Given the description of an element on the screen output the (x, y) to click on. 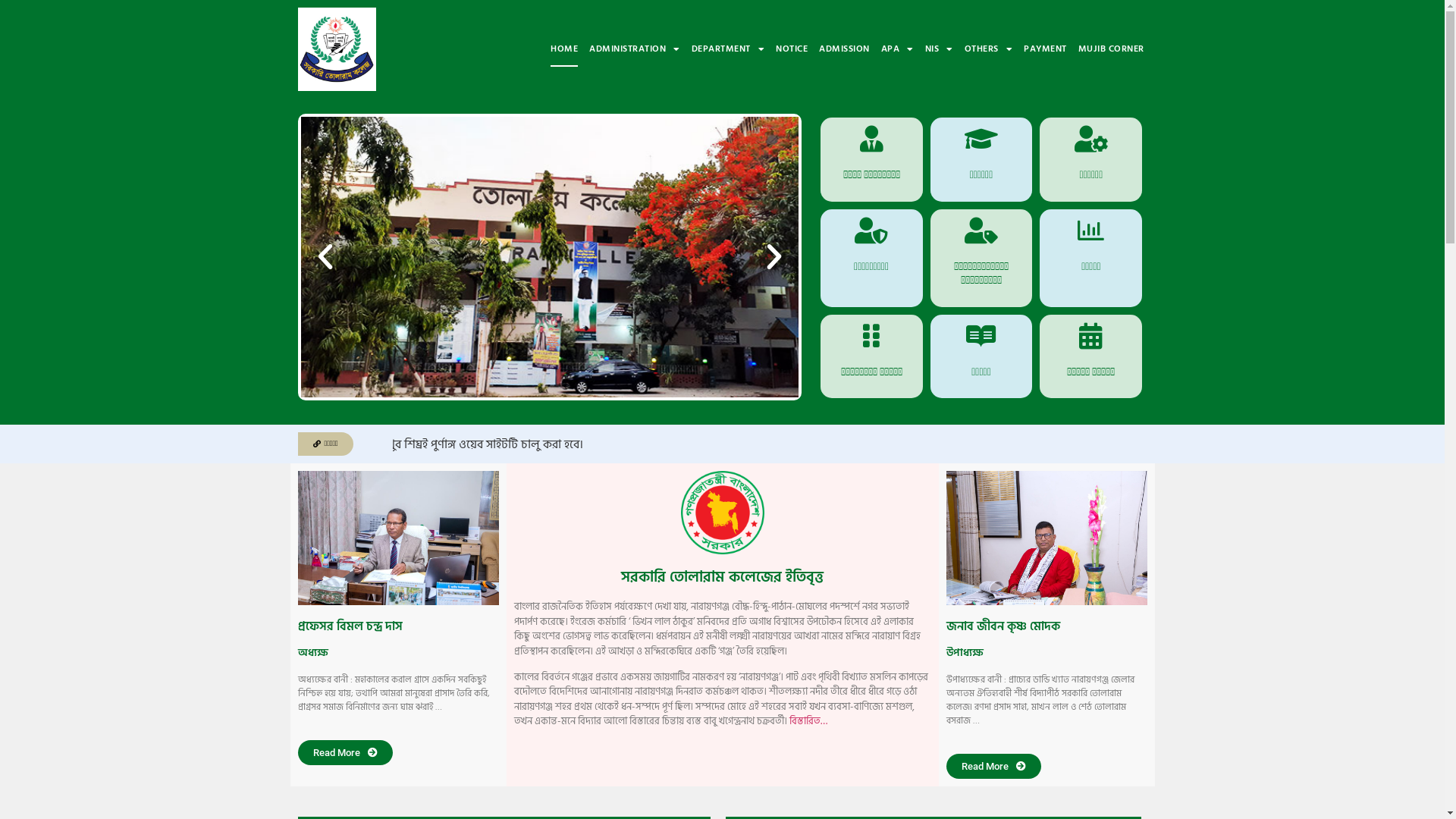
APA Element type: text (897, 48)
ADMISSION Element type: text (844, 48)
NOTICE Element type: text (791, 48)
Read More Element type: text (344, 752)
NIS Element type: text (939, 48)
OTHERS Element type: text (988, 48)
ADMINISTRATION Element type: text (634, 48)
PAYMENT Element type: text (1044, 48)
DEPARTMENT Element type: text (728, 48)
HOME Element type: text (563, 48)
MUJIB CORNER Element type: text (1111, 48)
Read More Element type: text (993, 765)
